Given the description of an element on the screen output the (x, y) to click on. 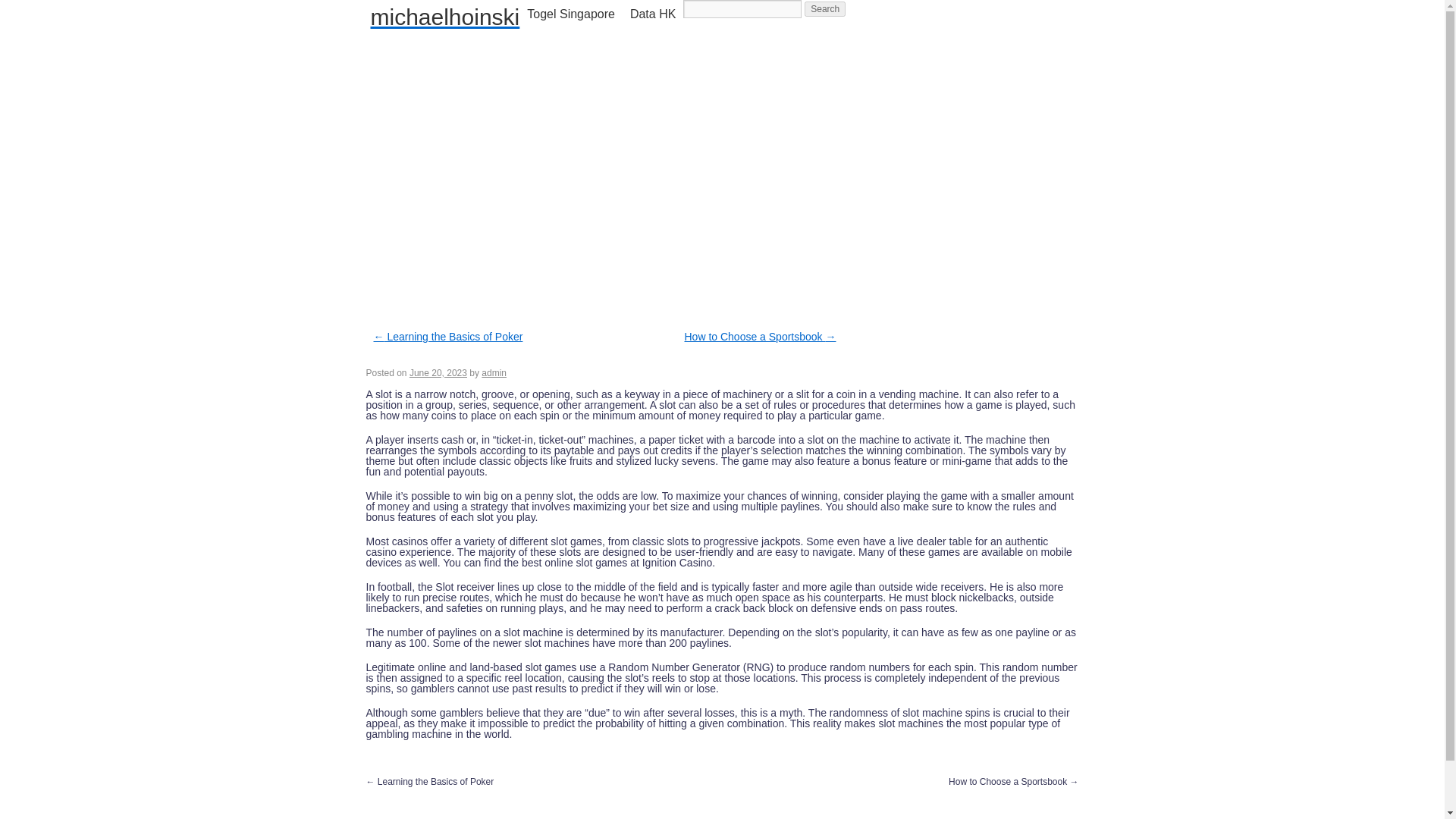
Togel Singapore (571, 14)
Search (825, 8)
Search (825, 8)
michaelhoinski (444, 16)
View all posts by admin (493, 372)
12:10 pm (438, 372)
admin (493, 372)
June 20, 2023 (438, 372)
Data HK (652, 14)
